Given the description of an element on the screen output the (x, y) to click on. 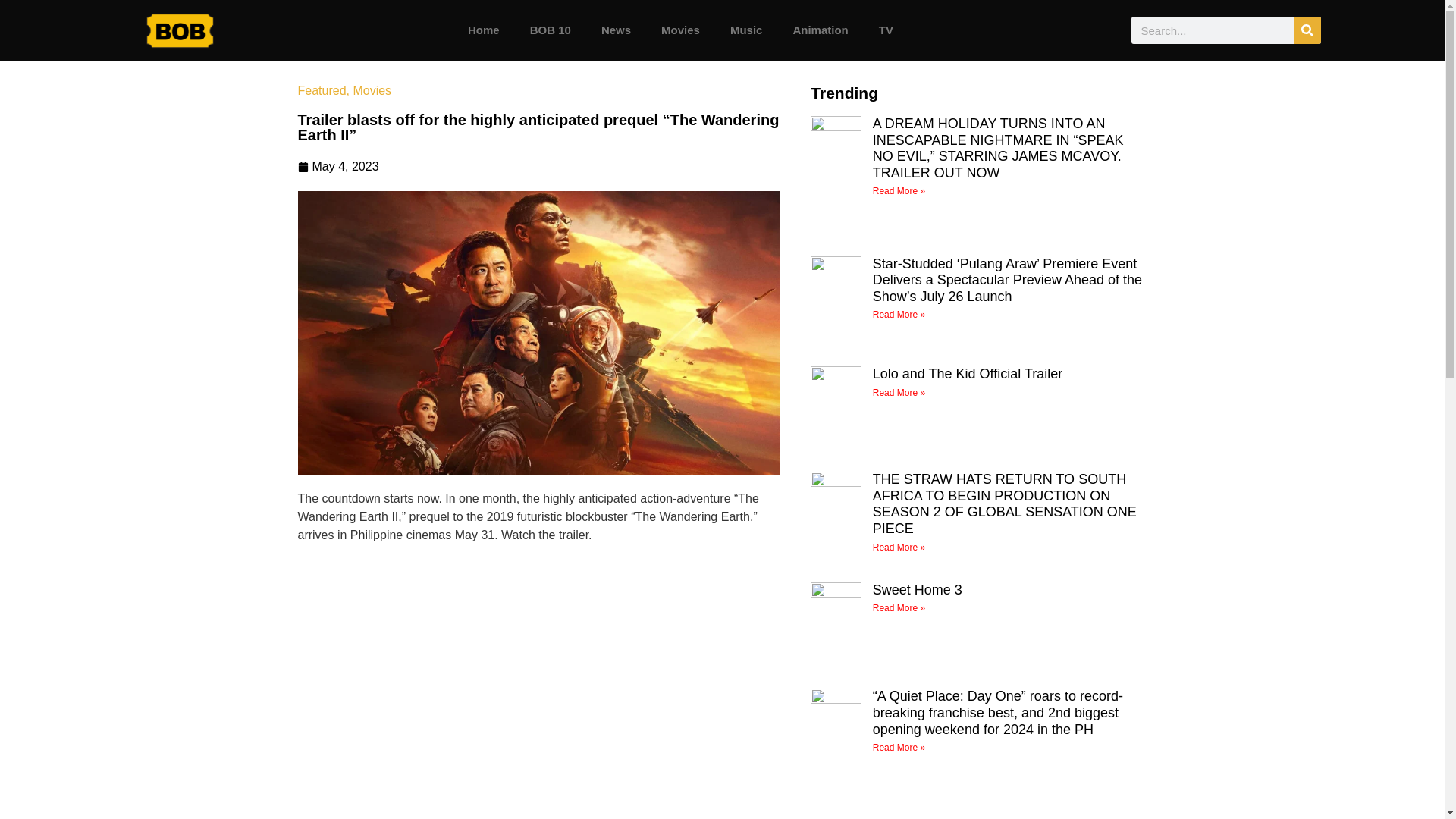
Movies (371, 90)
Music (745, 30)
BOB 10 (550, 30)
May 4, 2023 (337, 167)
Featured (321, 90)
Movies (680, 30)
Animation (820, 30)
Home (483, 30)
TV (885, 30)
News (616, 30)
